Given the description of an element on the screen output the (x, y) to click on. 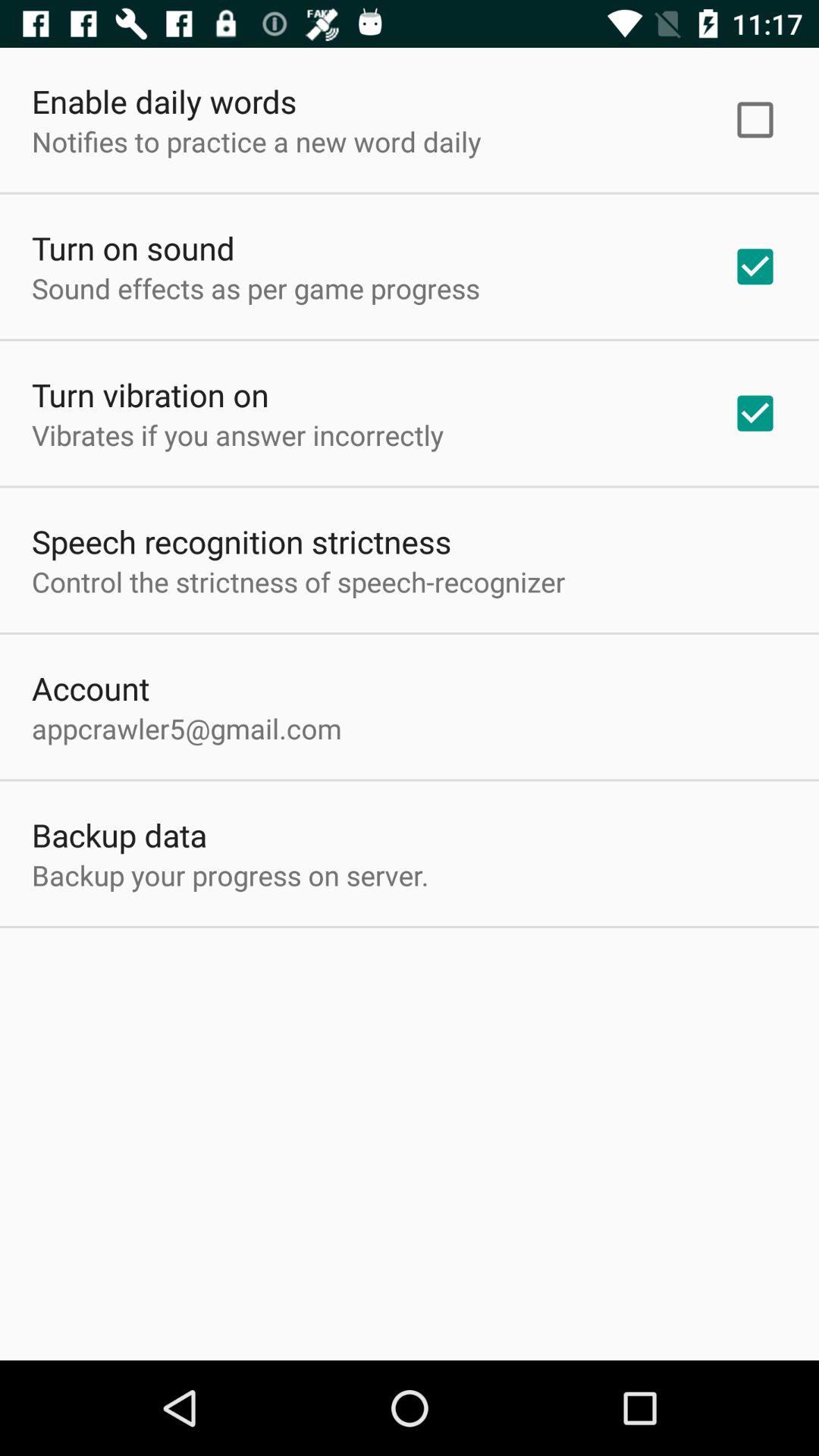
press the sound effects as item (255, 288)
